Given the description of an element on the screen output the (x, y) to click on. 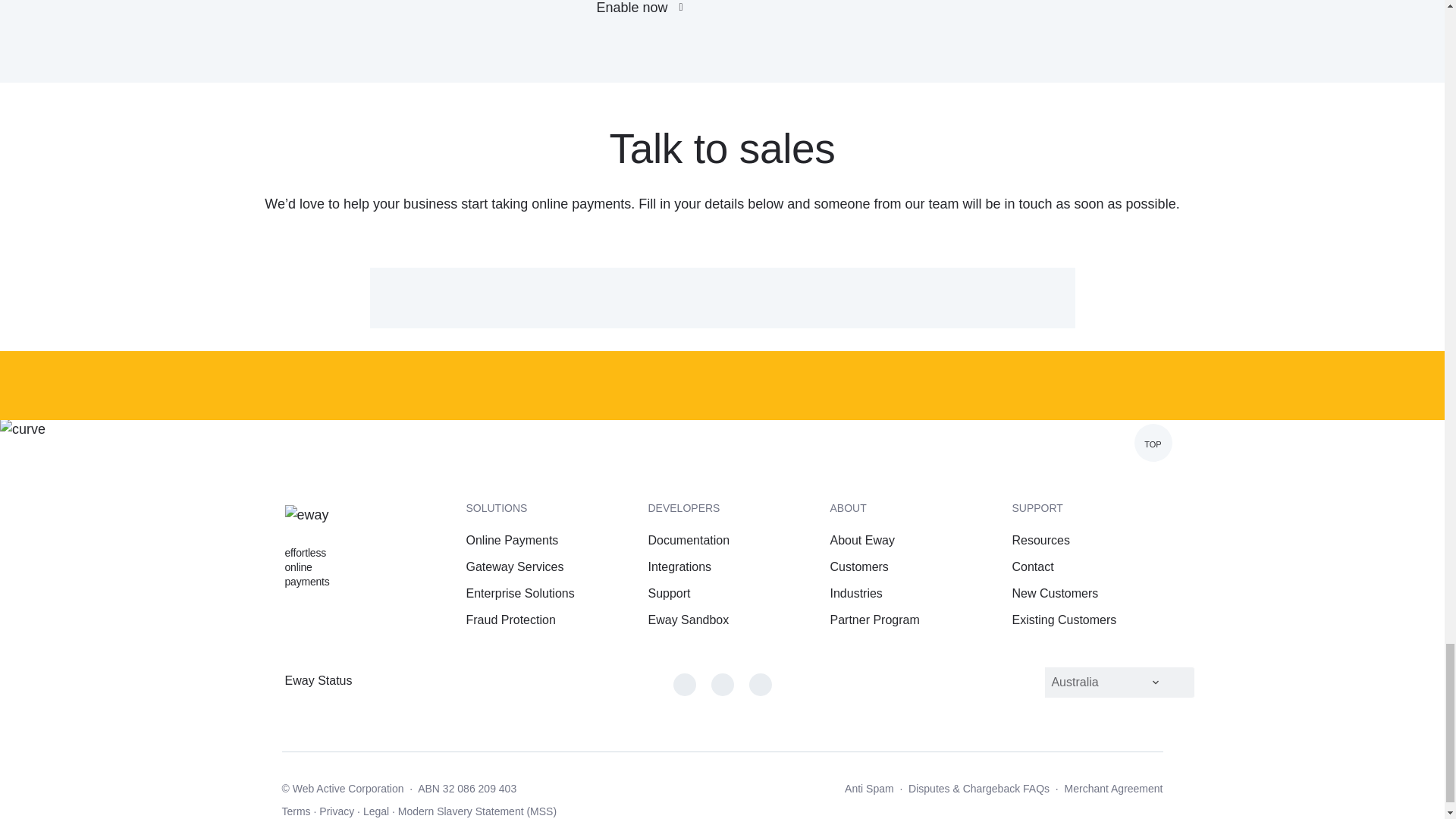
Sandbox (688, 619)
TOP (1153, 442)
Visit our Facebook profile (683, 684)
Visit our Twitter profile (722, 684)
Visit our LinkedIn profile (760, 684)
Enable now (646, 12)
